Given the description of an element on the screen output the (x, y) to click on. 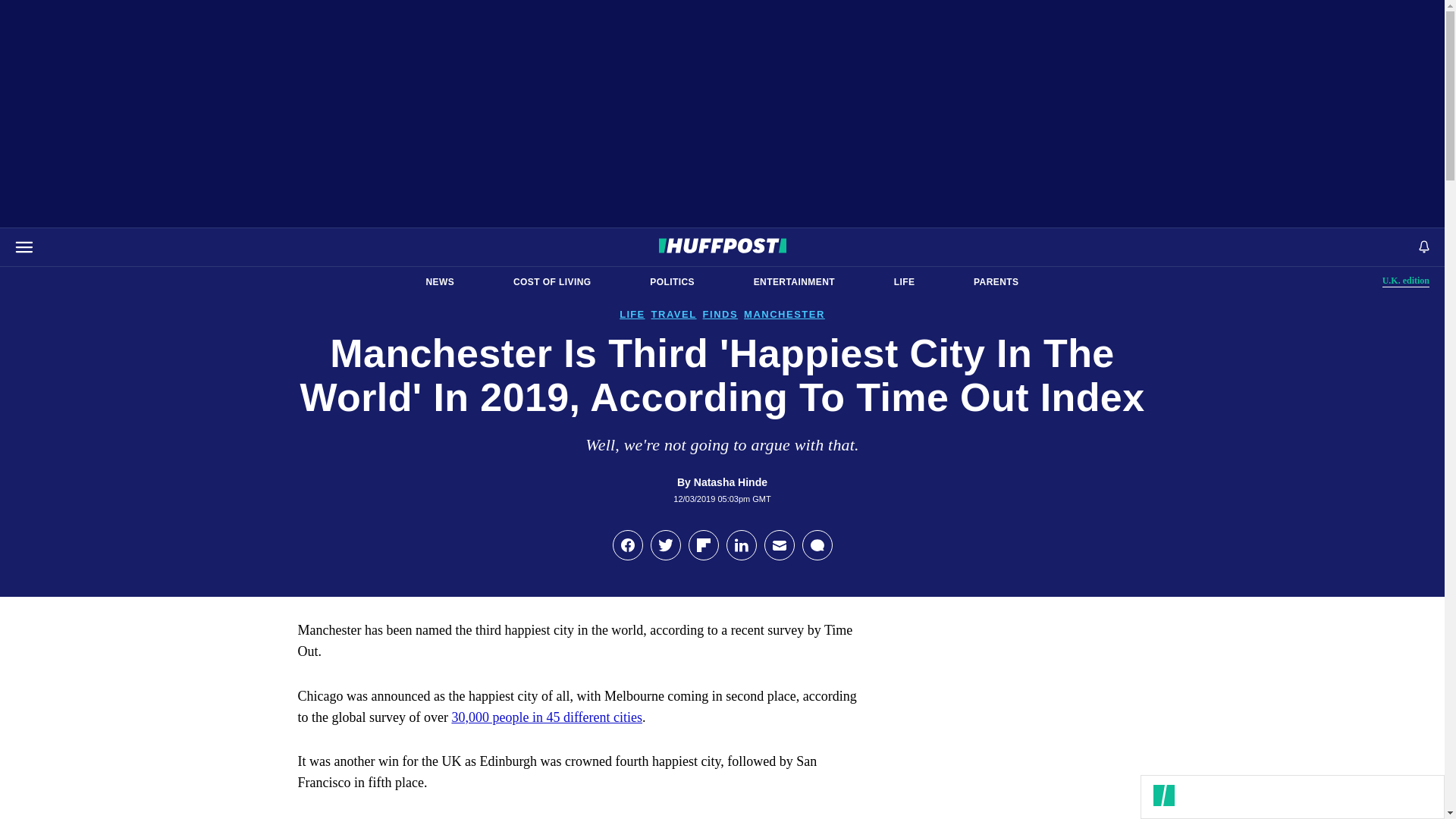
COST OF LIVING (552, 281)
LIFE (904, 281)
NEWS (1405, 281)
POLITICS (440, 281)
ENTERTAINMENT (671, 281)
PARENTS (794, 281)
